Given the description of an element on the screen output the (x, y) to click on. 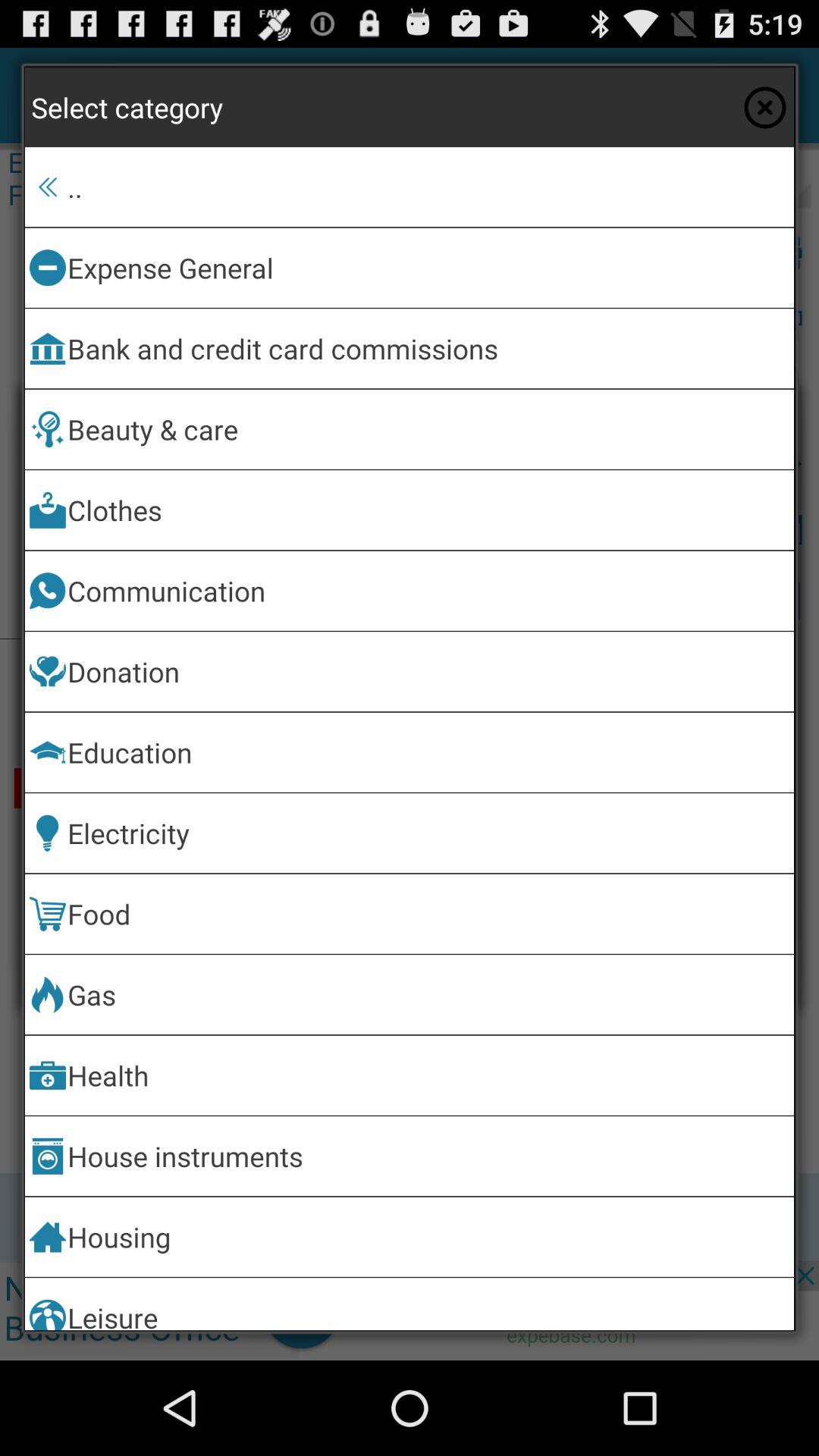
click the app below expense general icon (427, 348)
